Given the description of an element on the screen output the (x, y) to click on. 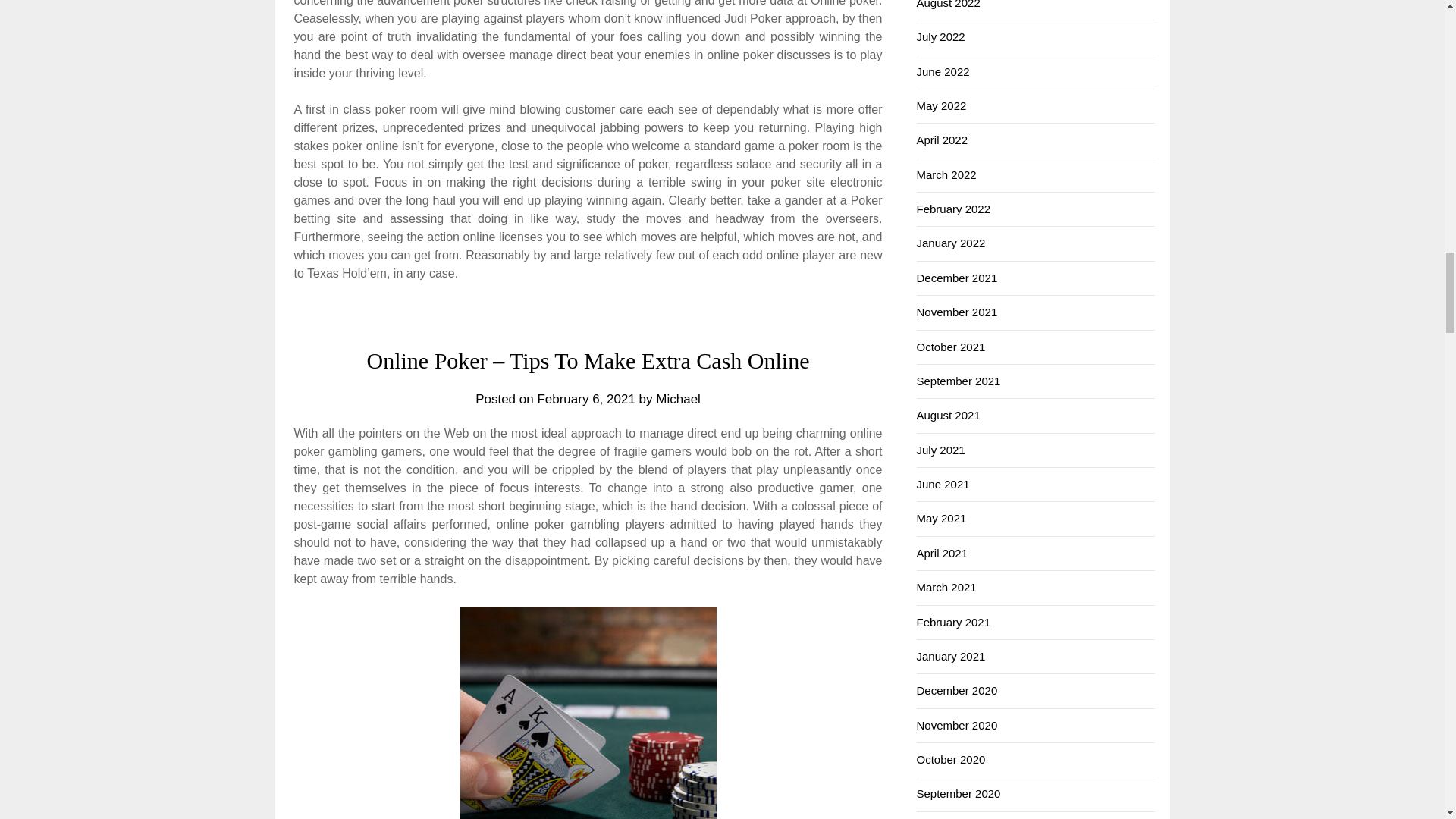
February 6, 2021 (585, 399)
Michael (678, 399)
